Given the description of an element on the screen output the (x, y) to click on. 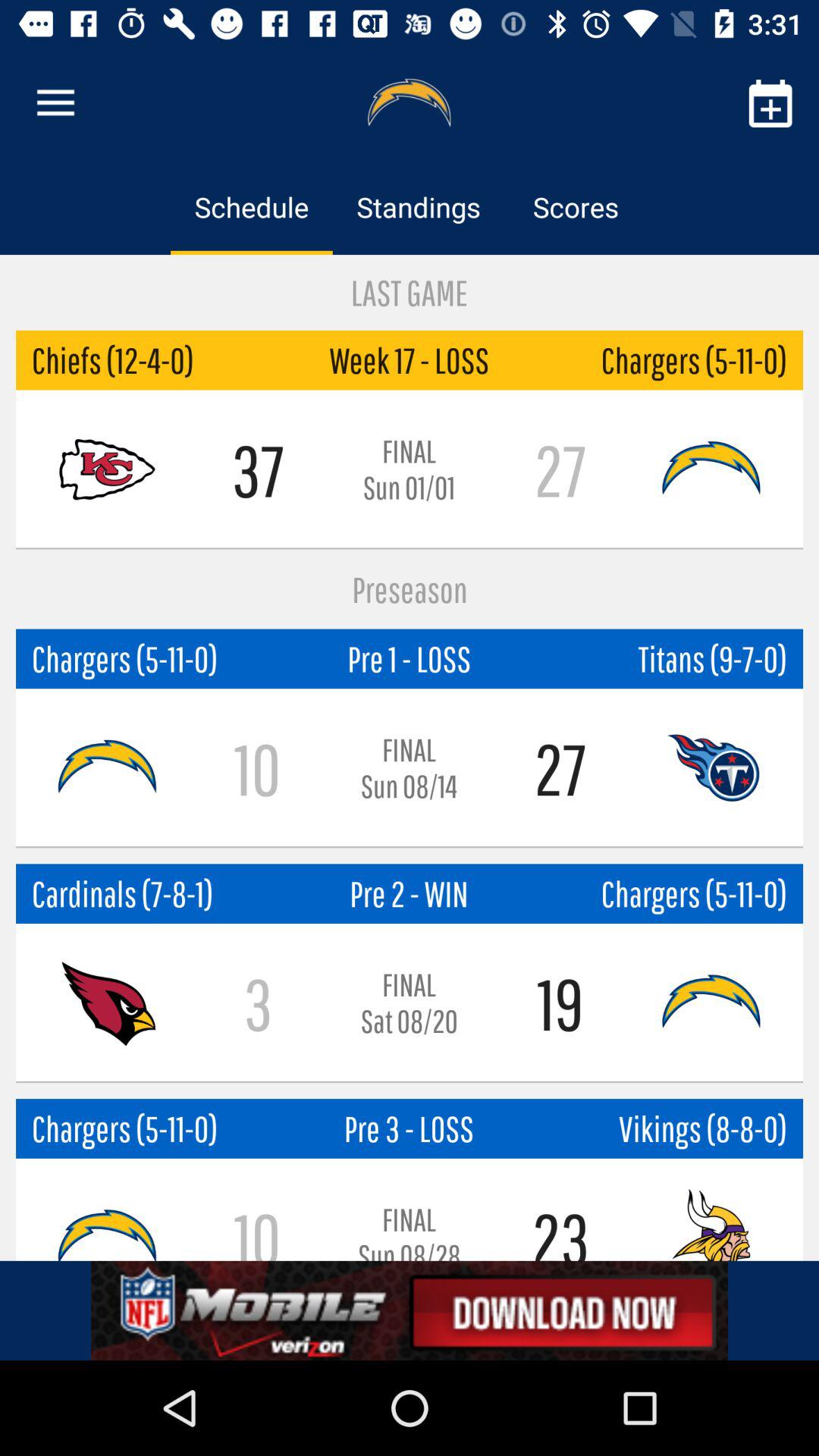
downloads app (409, 1310)
